Given the description of an element on the screen output the (x, y) to click on. 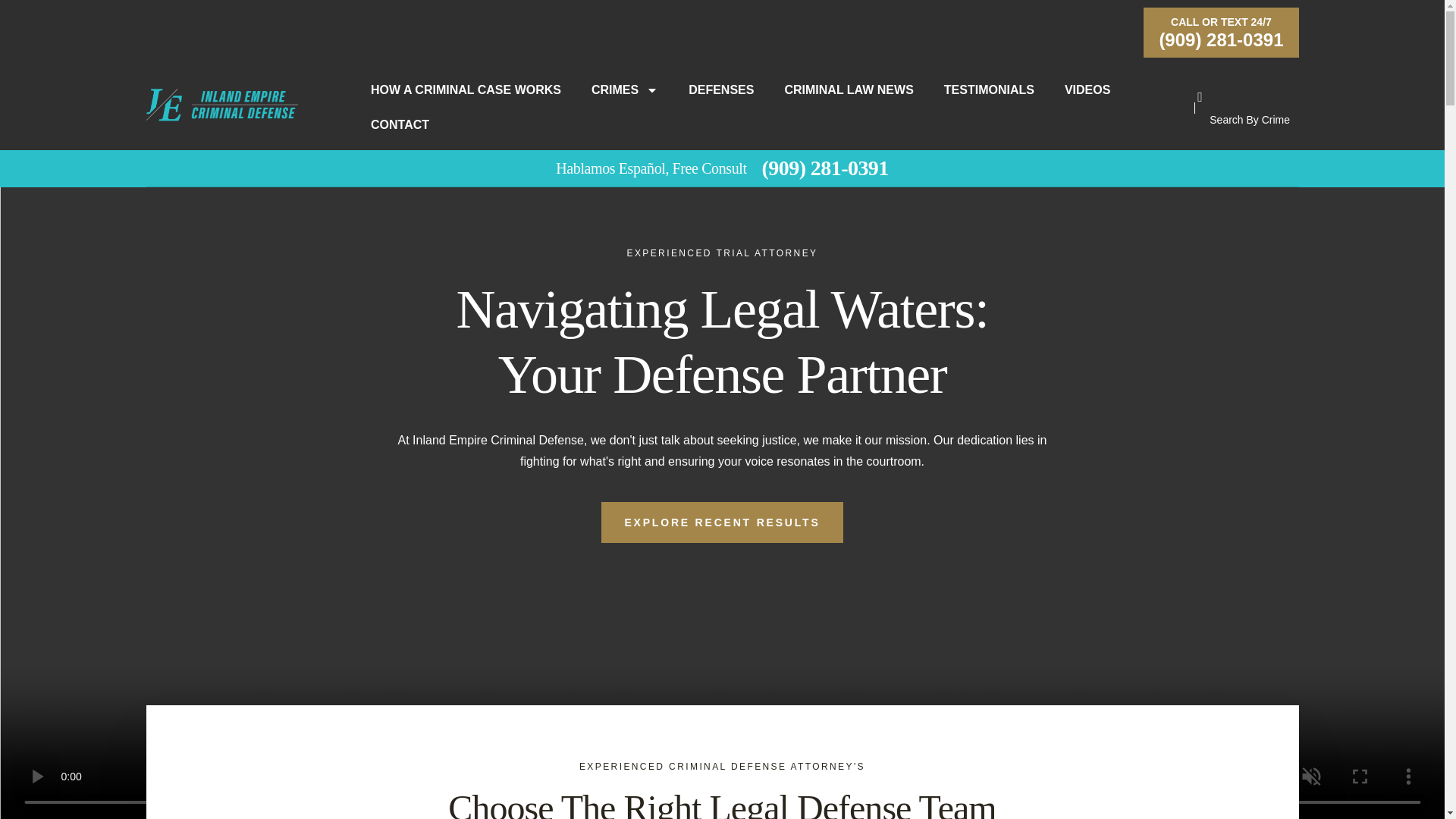
DEFENSES (720, 45)
TESTIMONIALS (988, 54)
VIDEOS (1087, 57)
CRIMINAL LAW NEWS (848, 50)
CONTACT (399, 95)
CRIMES (624, 0)
